Given the description of an element on the screen output the (x, y) to click on. 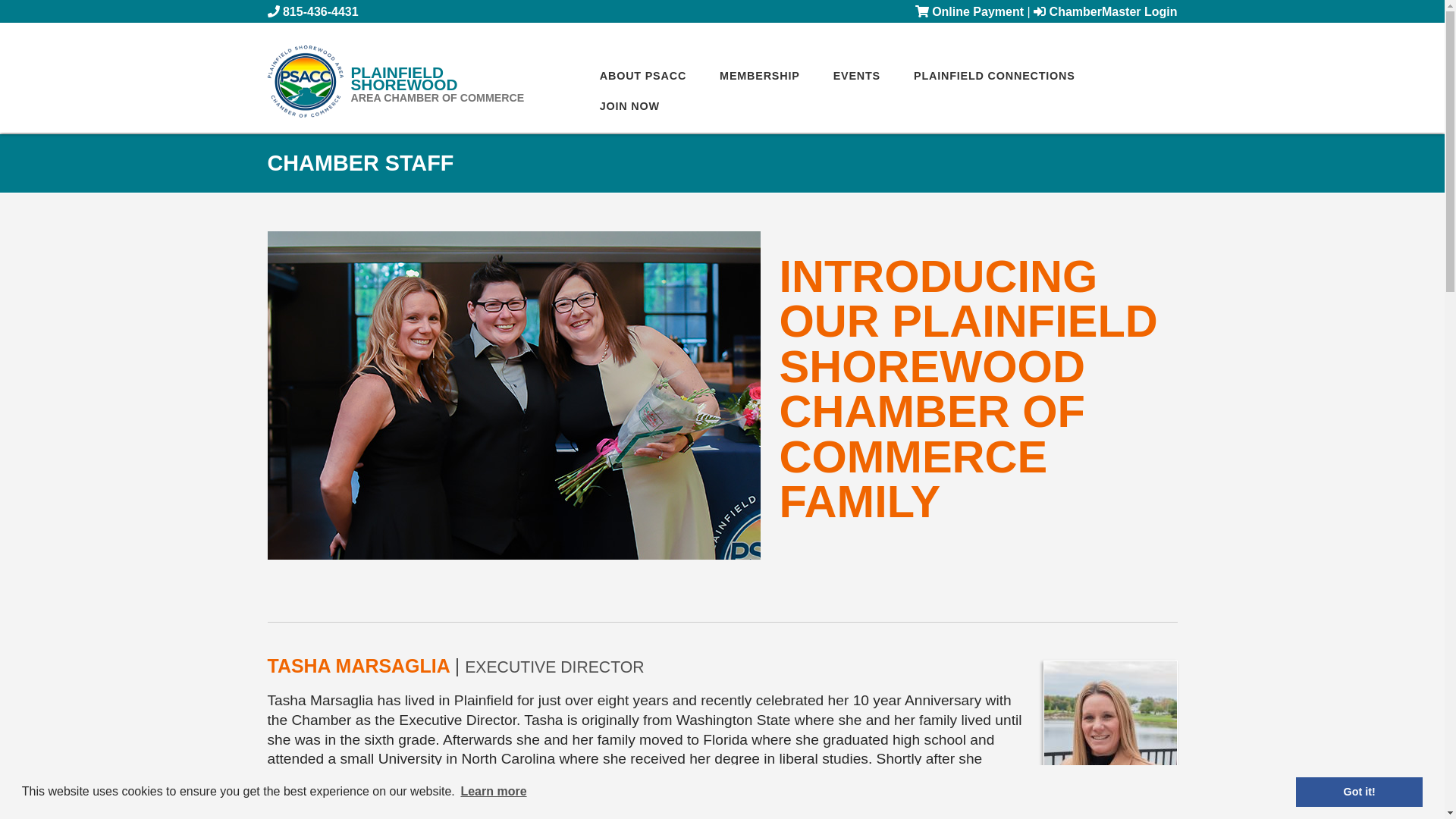
ChamberMaster Login (1104, 11)
Got it! (1358, 791)
ABOUT PSACC (643, 75)
EVENTS (856, 75)
815-436-4431 (320, 11)
Online Payment (969, 11)
Learn more (493, 791)
MEMBERSHIP (449, 85)
